Given the description of an element on the screen output the (x, y) to click on. 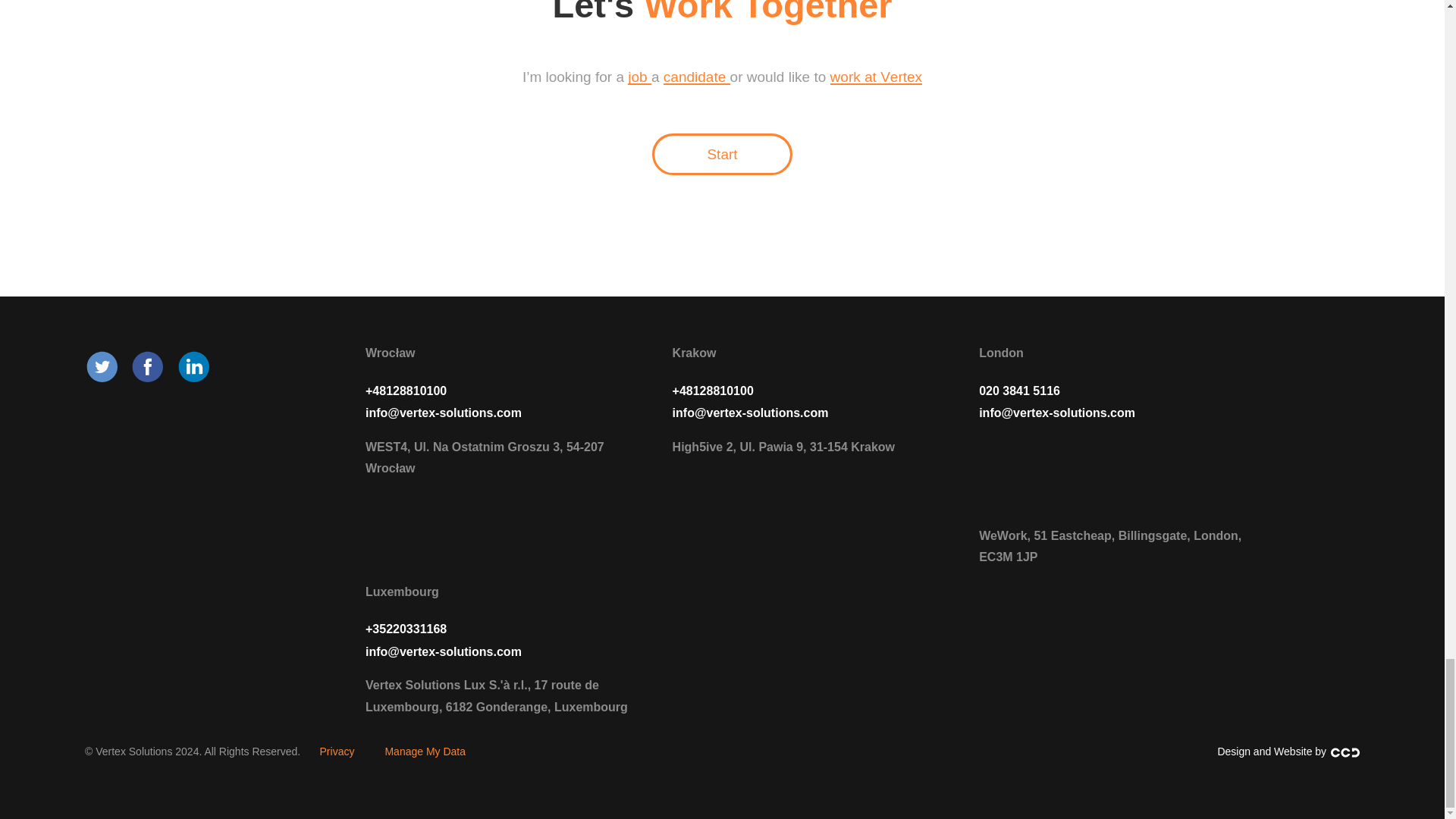
Krakow (876, 76)
London (694, 352)
Luxembourg (1000, 352)
Manage My Data (402, 591)
WeWork, 51 Eastcheap, Billingsgate, London, EC3M 1JP (424, 751)
020 3841 5116 (1109, 546)
High5ive 2, Ul. Pawia 9, 31-154 Krakow (1018, 390)
Start (696, 76)
